Given the description of an element on the screen output the (x, y) to click on. 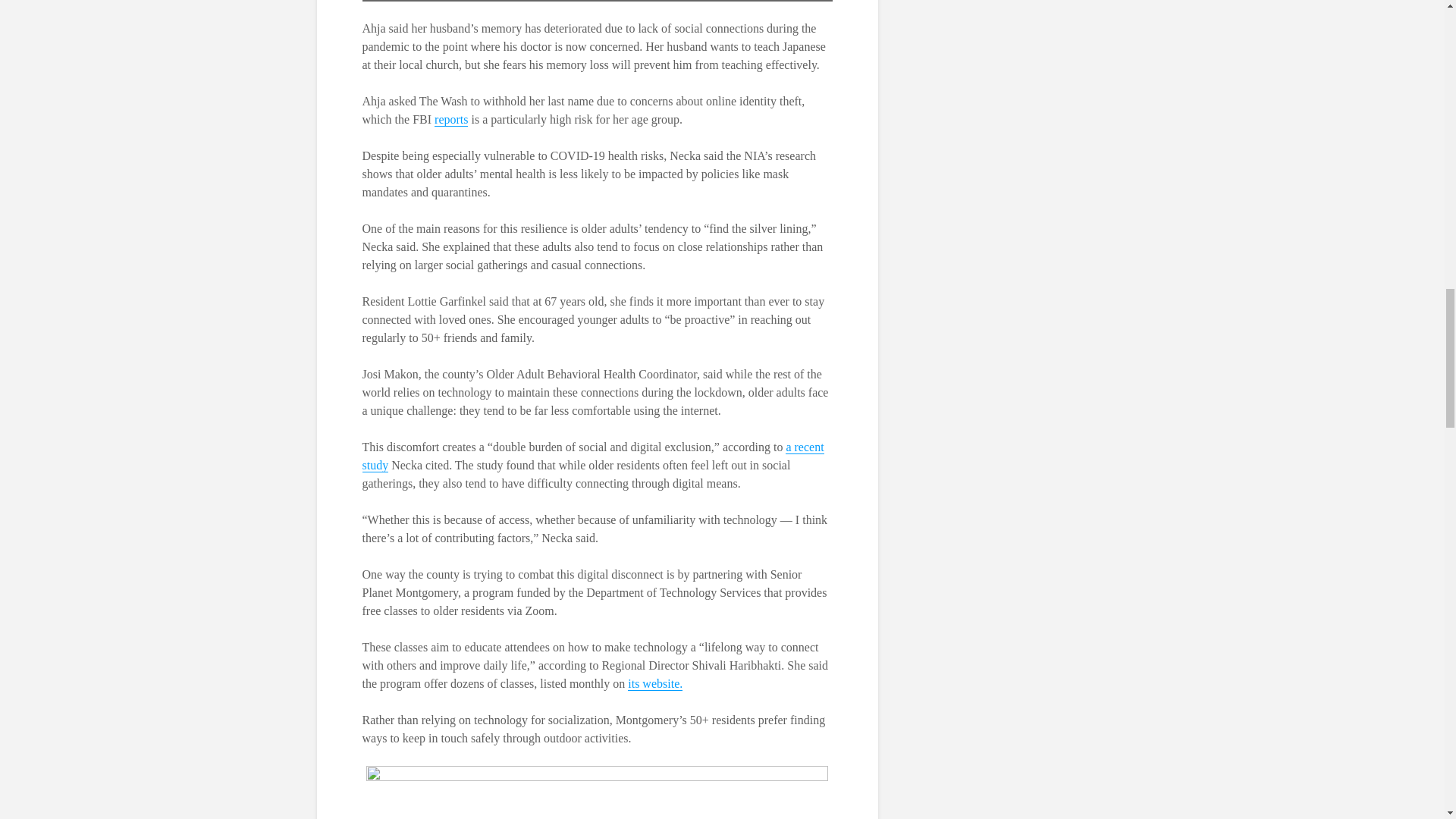
reports (450, 119)
a recent study (593, 456)
its website. (654, 684)
